Given the description of an element on the screen output the (x, y) to click on. 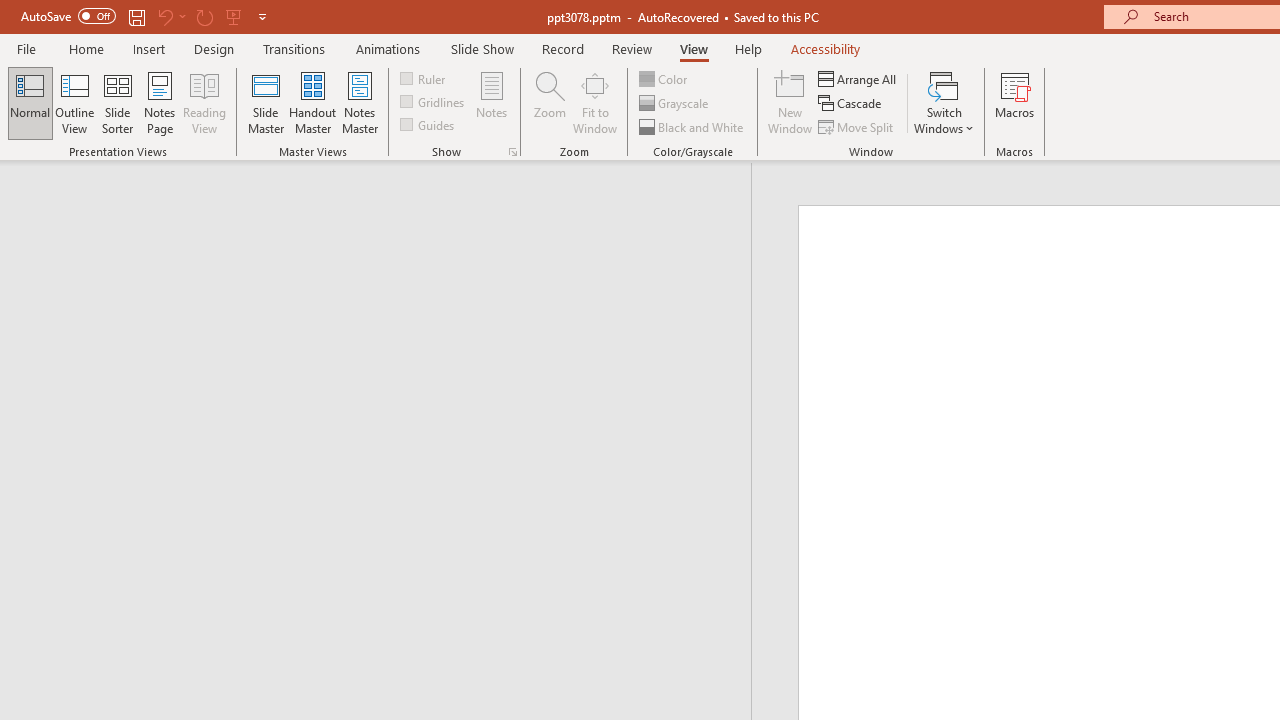
Macros (1014, 102)
Outline View (74, 102)
